Given the description of an element on the screen output the (x, y) to click on. 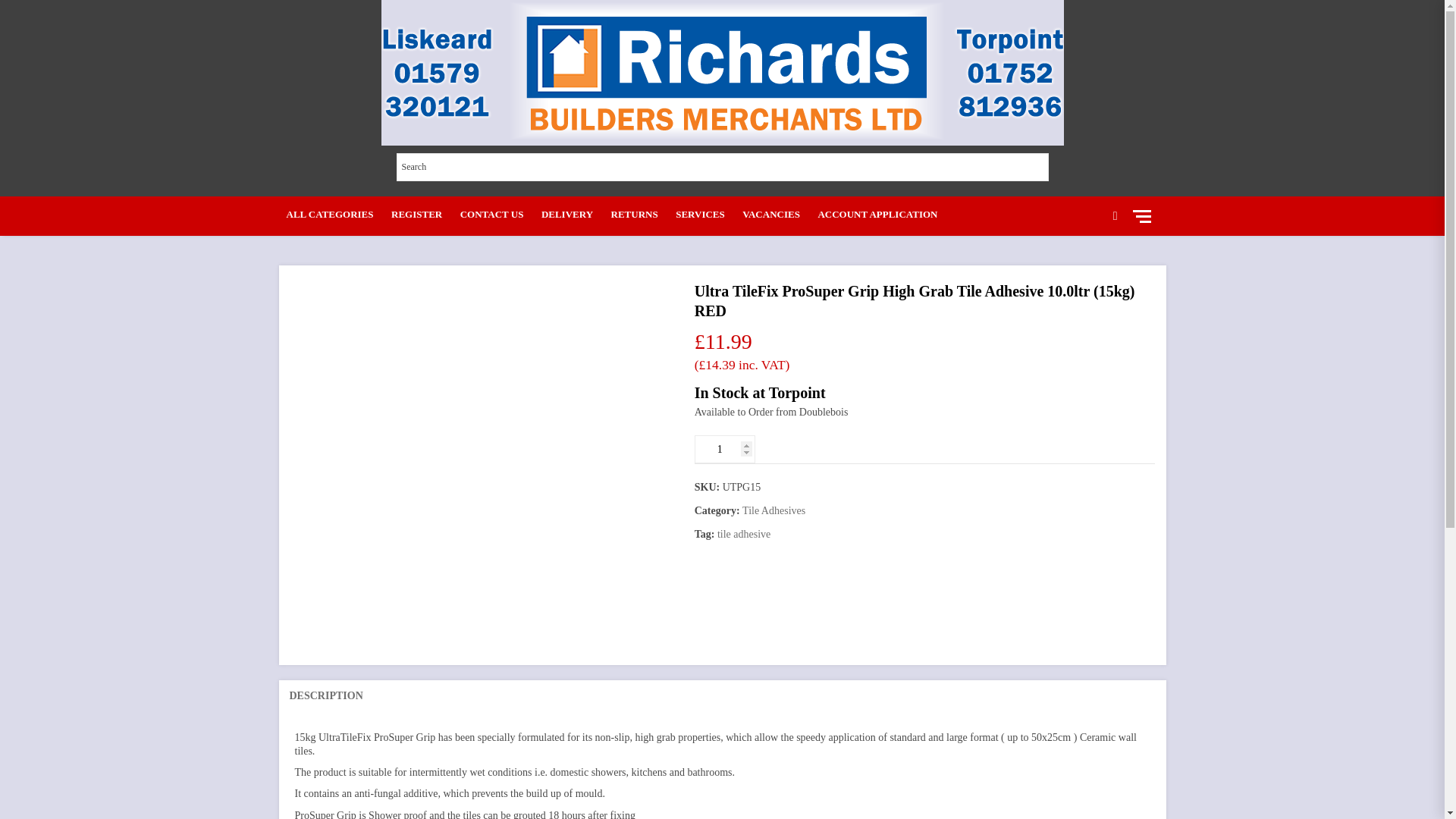
tile adhesive (743, 534)
ALL CATEGORIES (330, 214)
REGISTER (416, 214)
DESCRIPTION (325, 695)
1 (724, 448)
RETURNS (634, 214)
CONTACT US (492, 214)
SERVICES (700, 214)
VACANCIES (770, 214)
Tile Adhesives (773, 510)
